Given the description of an element on the screen output the (x, y) to click on. 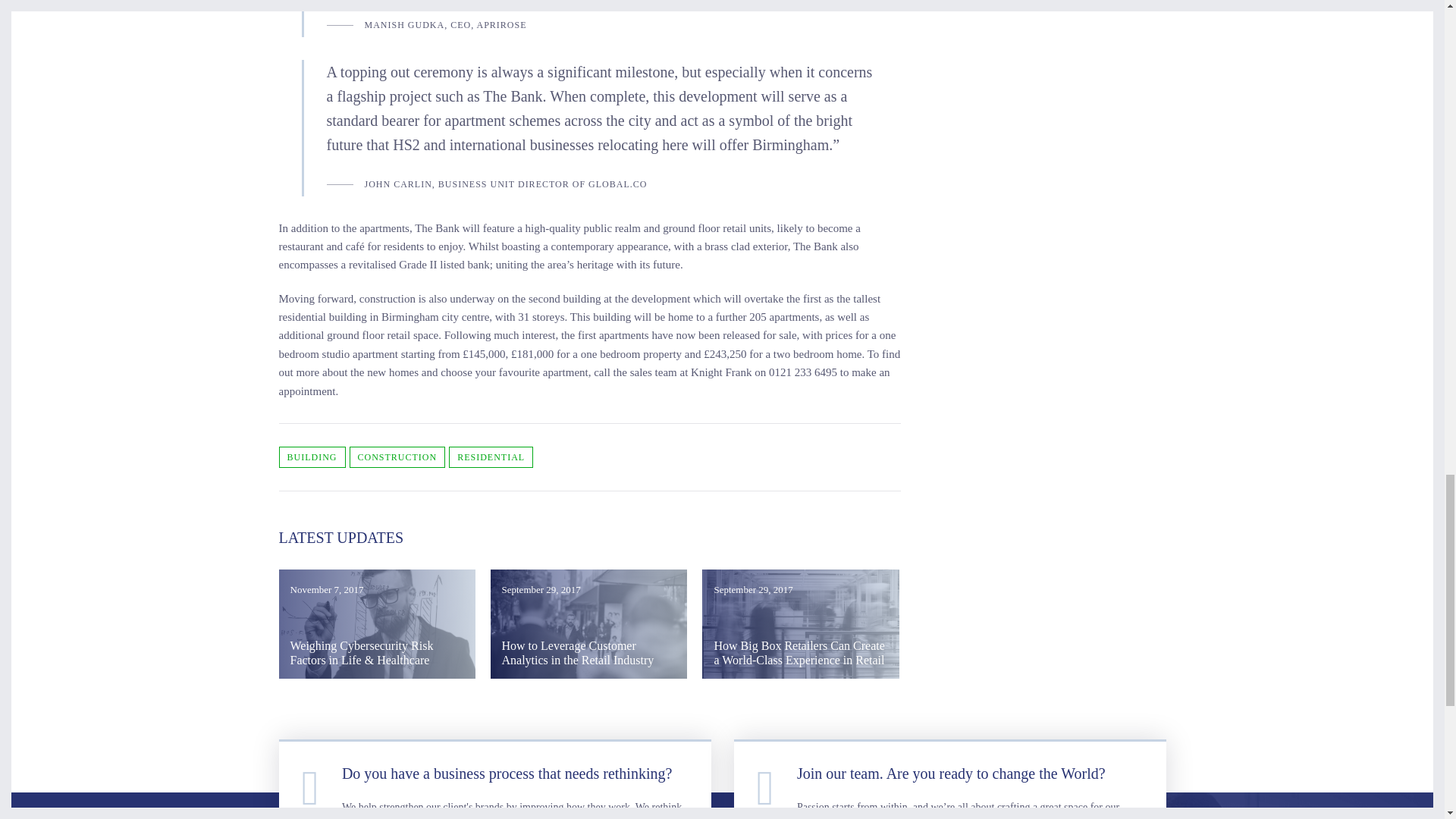
man-draws-various-growth-charts-calculating (377, 623)
